Given the description of an element on the screen output the (x, y) to click on. 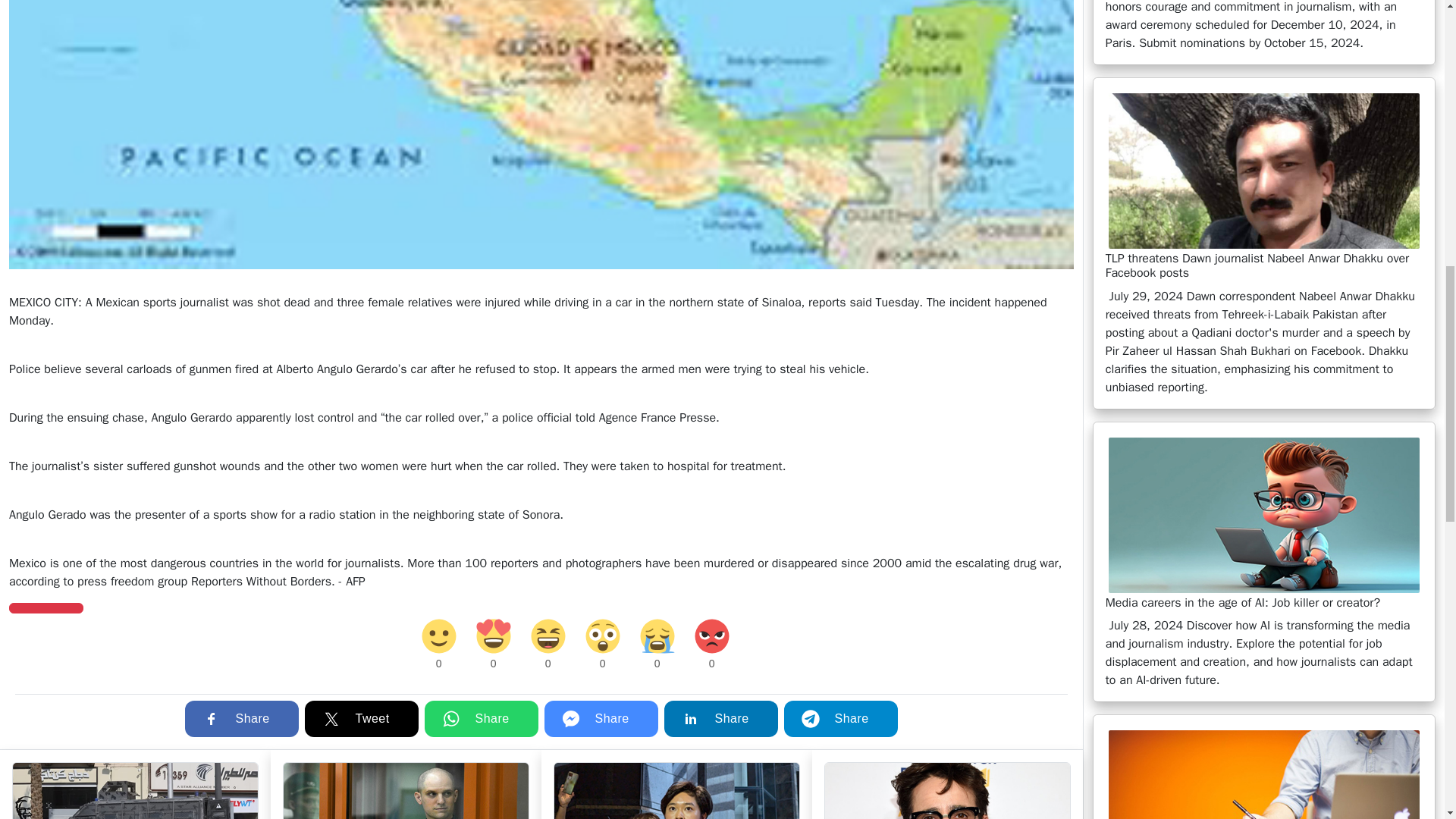
Media careers in the age of AI: Job killer or creator? (1263, 514)
